Given the description of an element on the screen output the (x, y) to click on. 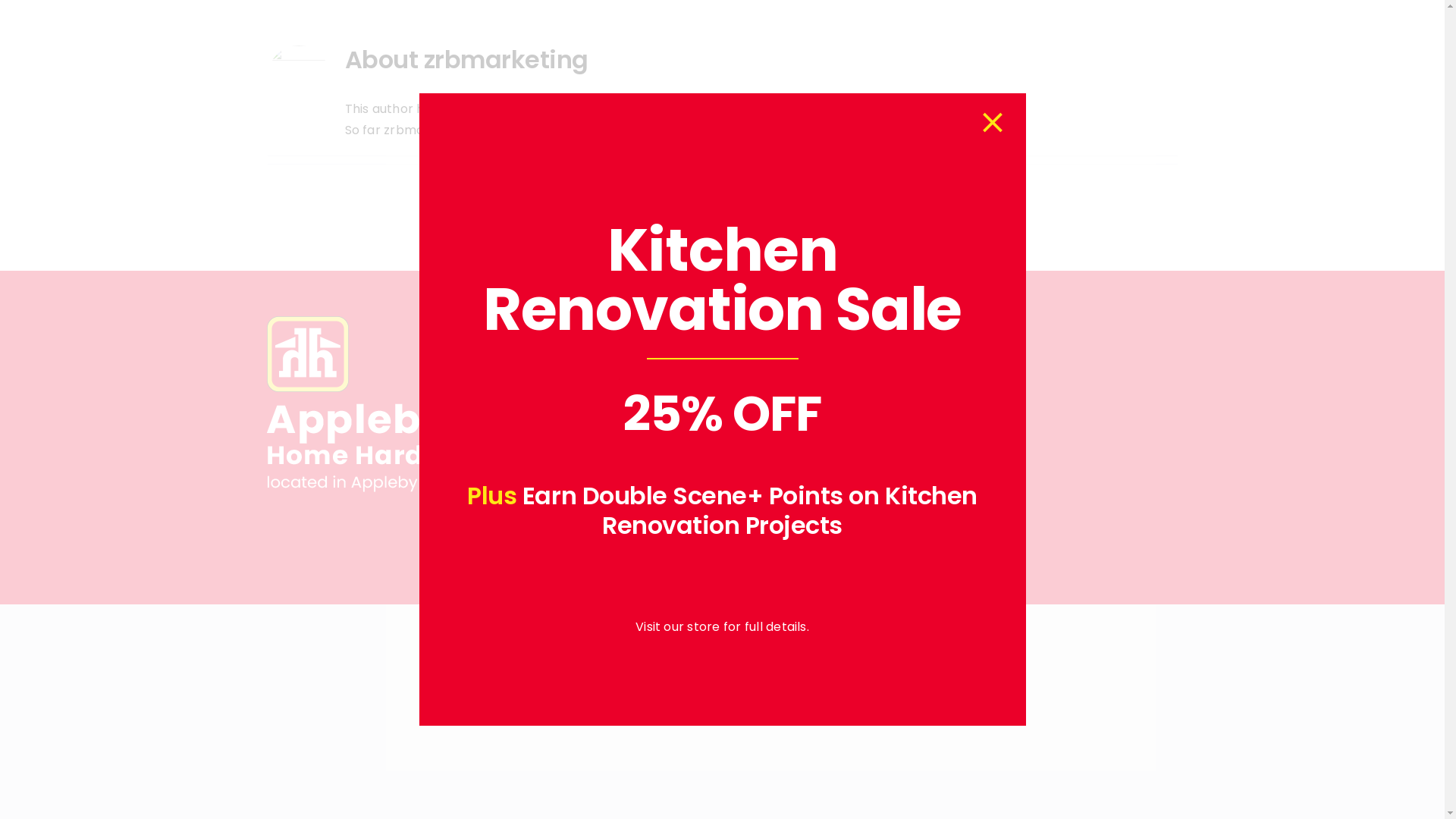
905-631-6064 Element type: text (655, 404)
